Given the description of an element on the screen output the (x, y) to click on. 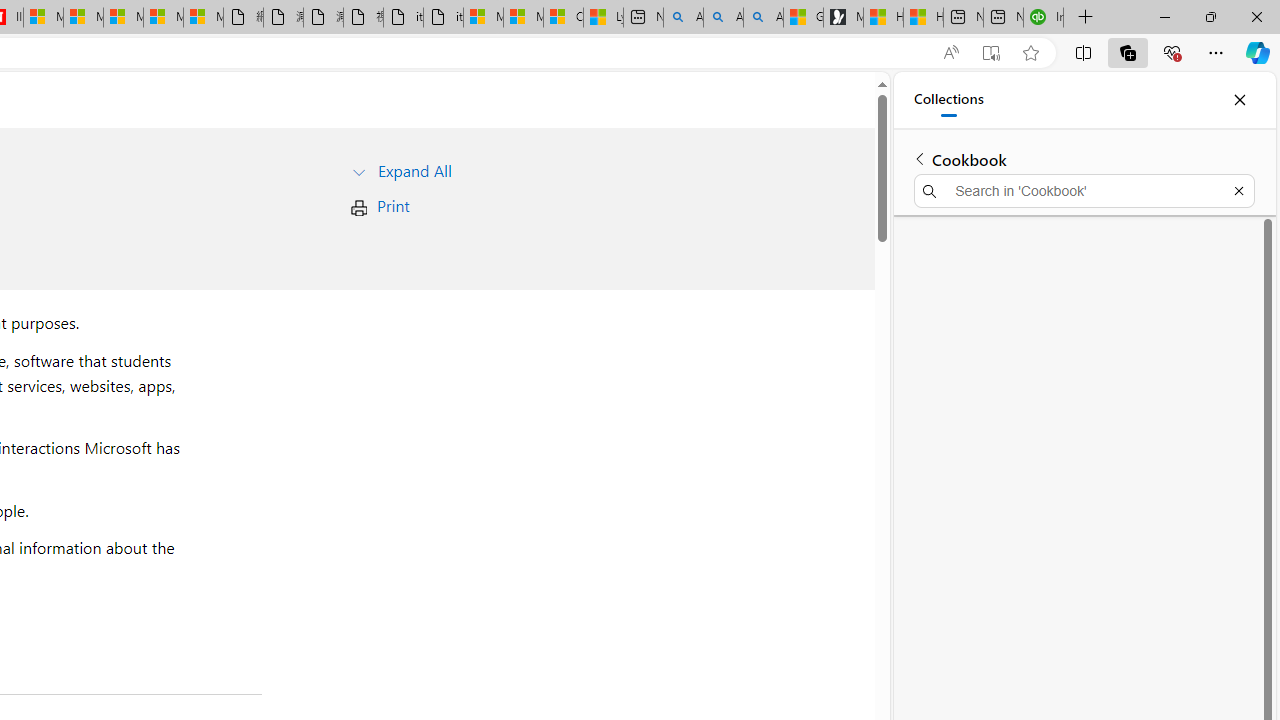
Alabama high school quarterback dies - Search (683, 17)
